Given the description of an element on the screen output the (x, y) to click on. 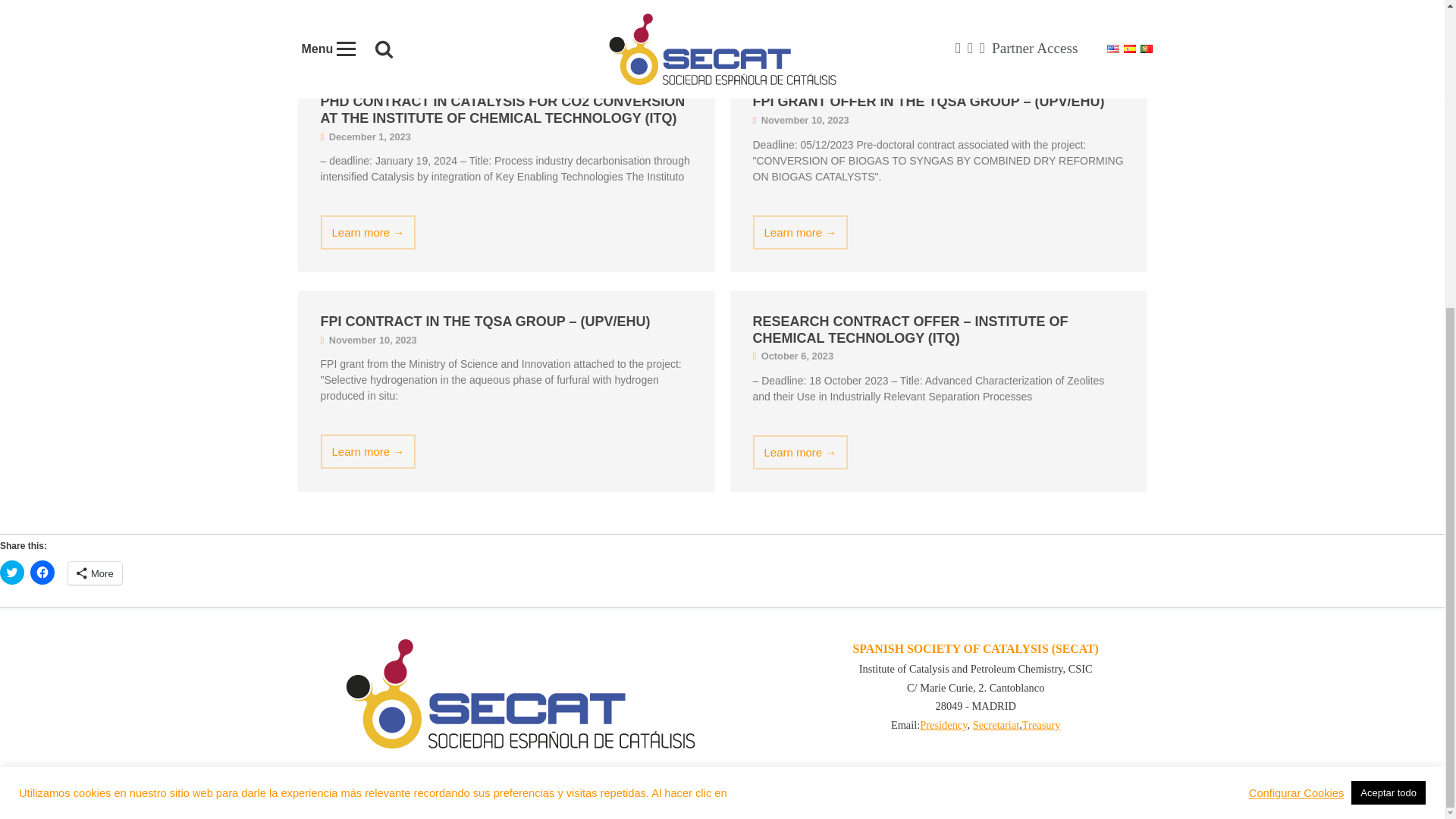
Click to share on Facebook (42, 572)
Click to share on Twitter (12, 572)
